Given the description of an element on the screen output the (x, y) to click on. 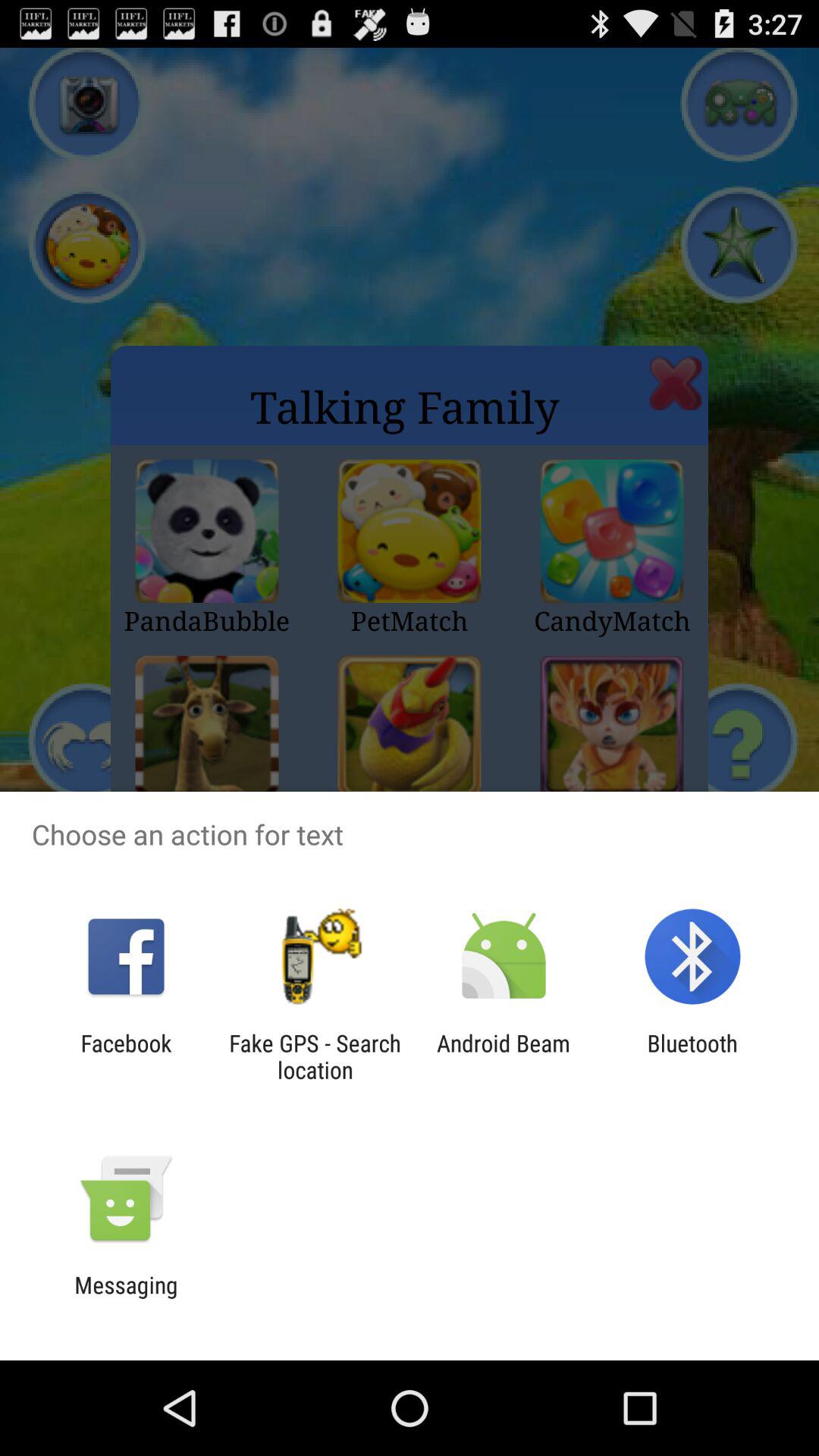
press the item to the right of android beam item (692, 1056)
